Given the description of an element on the screen output the (x, y) to click on. 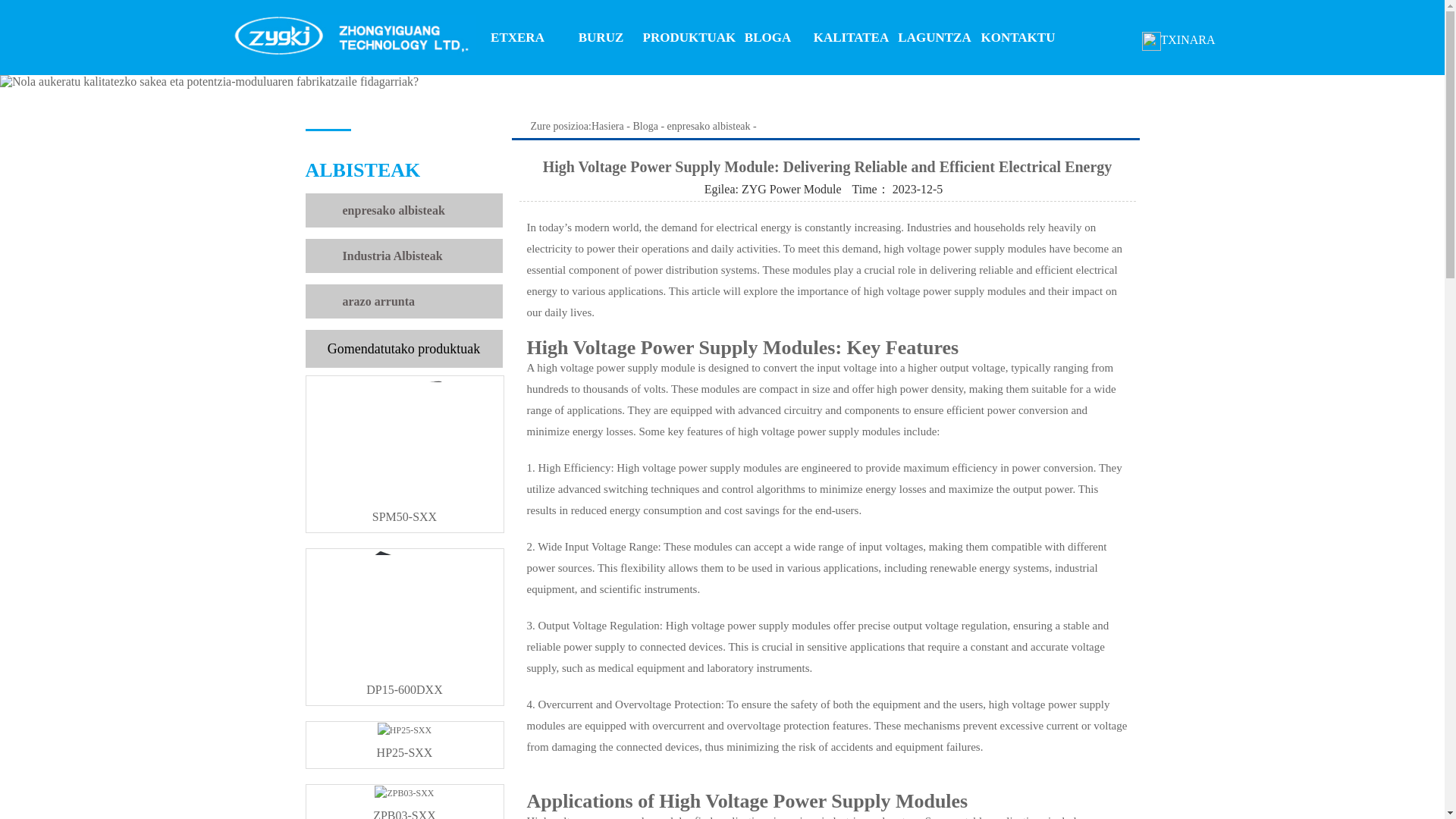
HP25-SXX (404, 746)
SPM50-SXX (404, 510)
HP25-SXX (404, 746)
SPM50-SXX (404, 510)
enpresako albisteak (393, 210)
high voltage power supply modules (964, 248)
DP15-600DXX (404, 683)
LAGUNTZA (934, 37)
Industria Albisteak (392, 255)
High voltage power supply modules (747, 625)
